Given the description of an element on the screen output the (x, y) to click on. 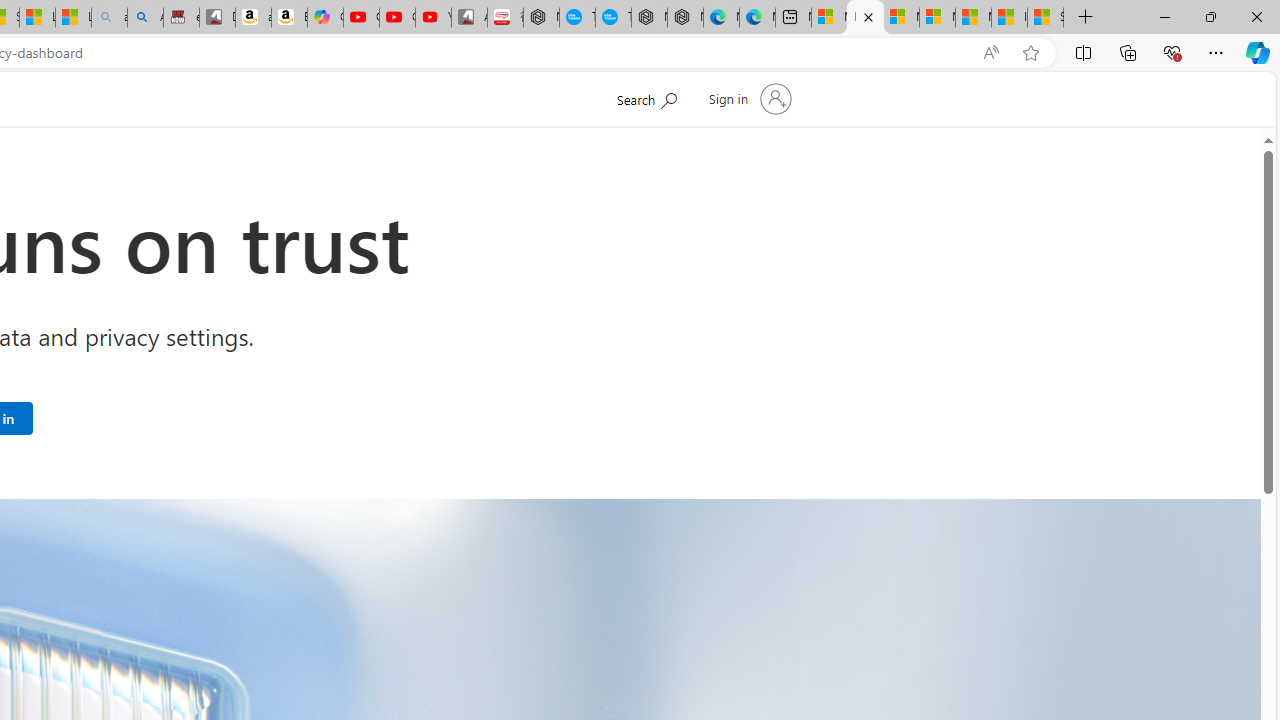
I Gained 20 Pounds of Muscle in 30 Days! | Watch (1009, 17)
Nordace - Nordace has arrived Hong Kong (685, 17)
